Given the description of an element on the screen output the (x, y) to click on. 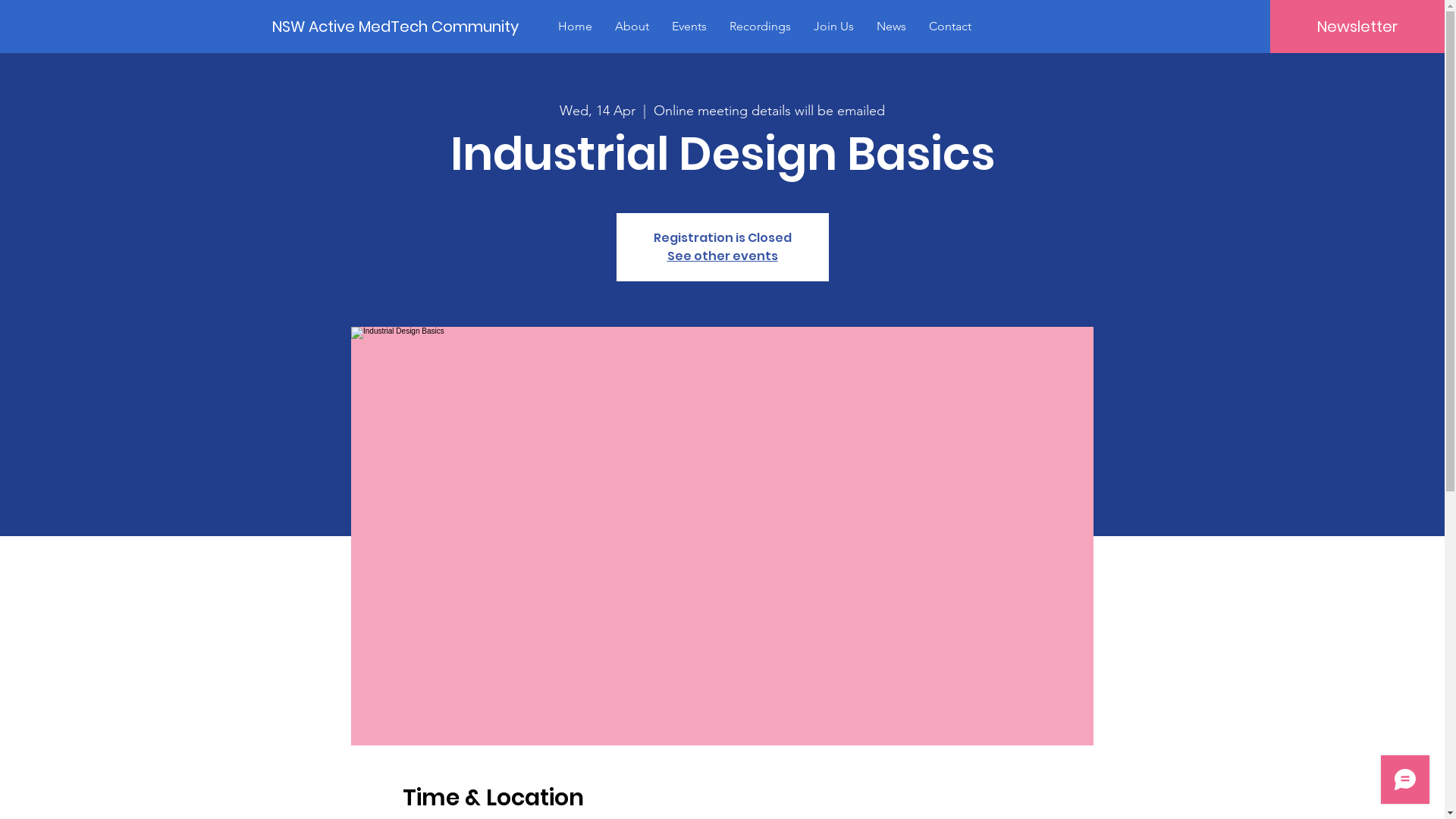
Contact Element type: text (949, 26)
Join Us Element type: text (833, 26)
See other events Element type: text (722, 255)
About Element type: text (631, 26)
Events Element type: text (689, 26)
Recordings Element type: text (760, 26)
NSW Active MedTech Community Element type: text (396, 26)
Home Element type: text (574, 26)
Newsletter Element type: text (1357, 26)
News Element type: text (891, 26)
